Given the description of an element on the screen output the (x, y) to click on. 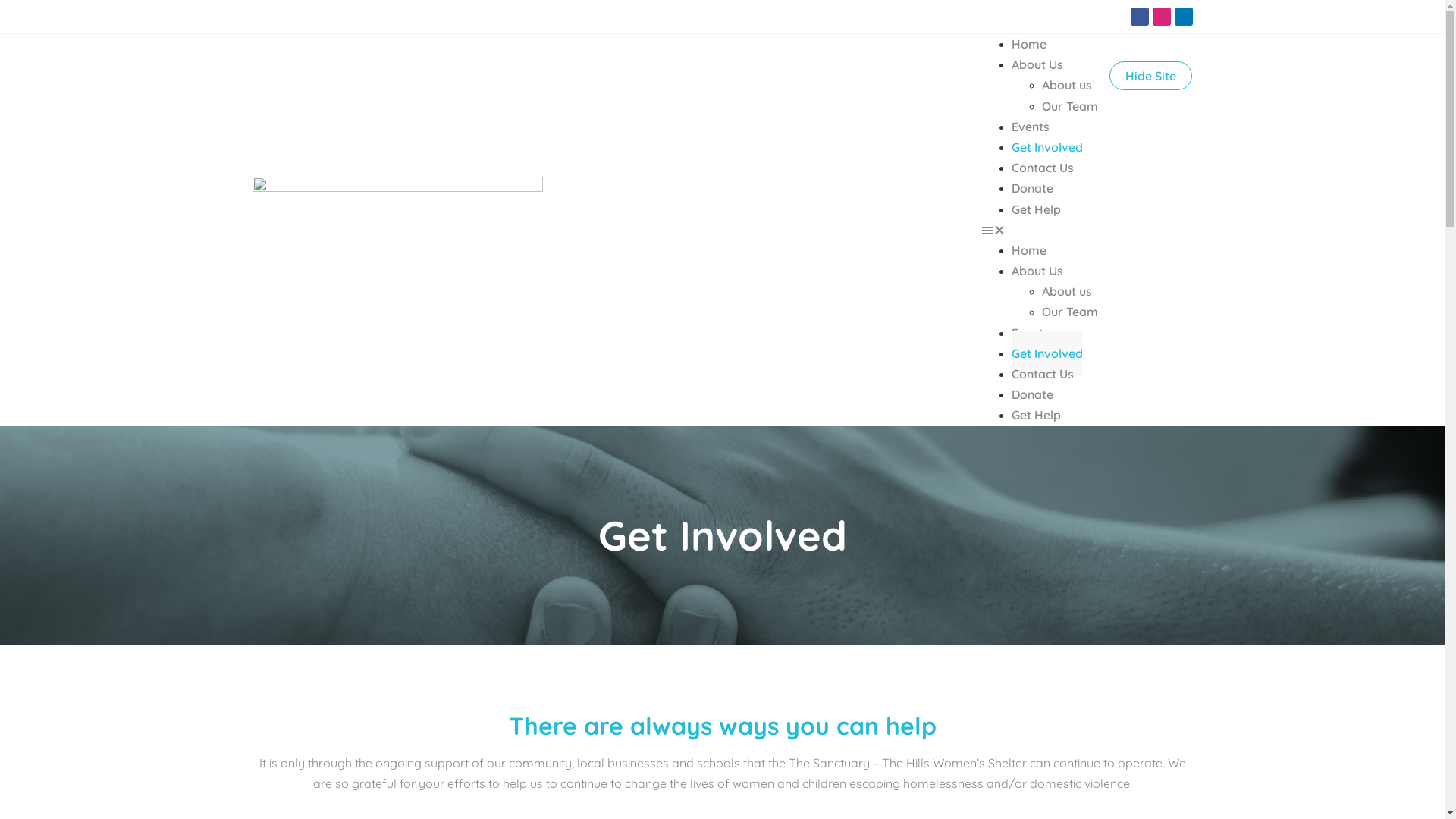
Our Team Element type: text (1069, 105)
Hide Site Element type: text (1150, 75)
About Us Element type: text (1037, 64)
Get Help Element type: text (1035, 414)
About Us Element type: text (1037, 270)
Donate Element type: text (1032, 188)
Events Element type: text (1030, 126)
Donate Element type: text (1032, 394)
About us Element type: text (1066, 84)
Get Involved Element type: text (1046, 353)
Events Element type: text (1030, 332)
Get Help Element type: text (1035, 209)
Home Element type: text (1028, 43)
About us Element type: text (1066, 290)
Get Involved Element type: text (1046, 147)
Our Team Element type: text (1069, 311)
Contact Us Element type: text (1042, 167)
Contact Us Element type: text (1042, 373)
Home Element type: text (1028, 250)
